Given the description of an element on the screen output the (x, y) to click on. 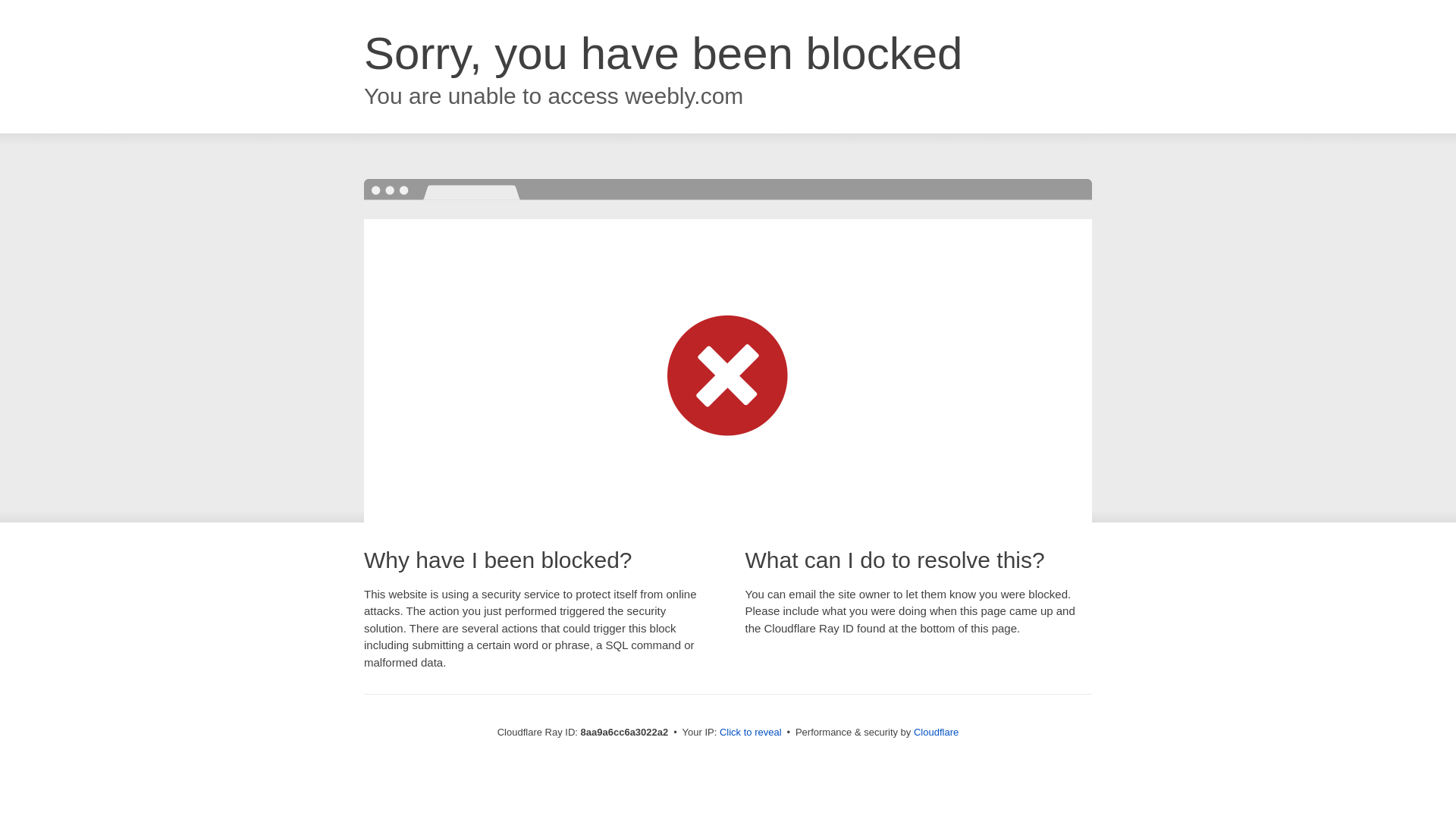
Cloudflare (936, 731)
Click to reveal (750, 732)
